Given the description of an element on the screen output the (x, y) to click on. 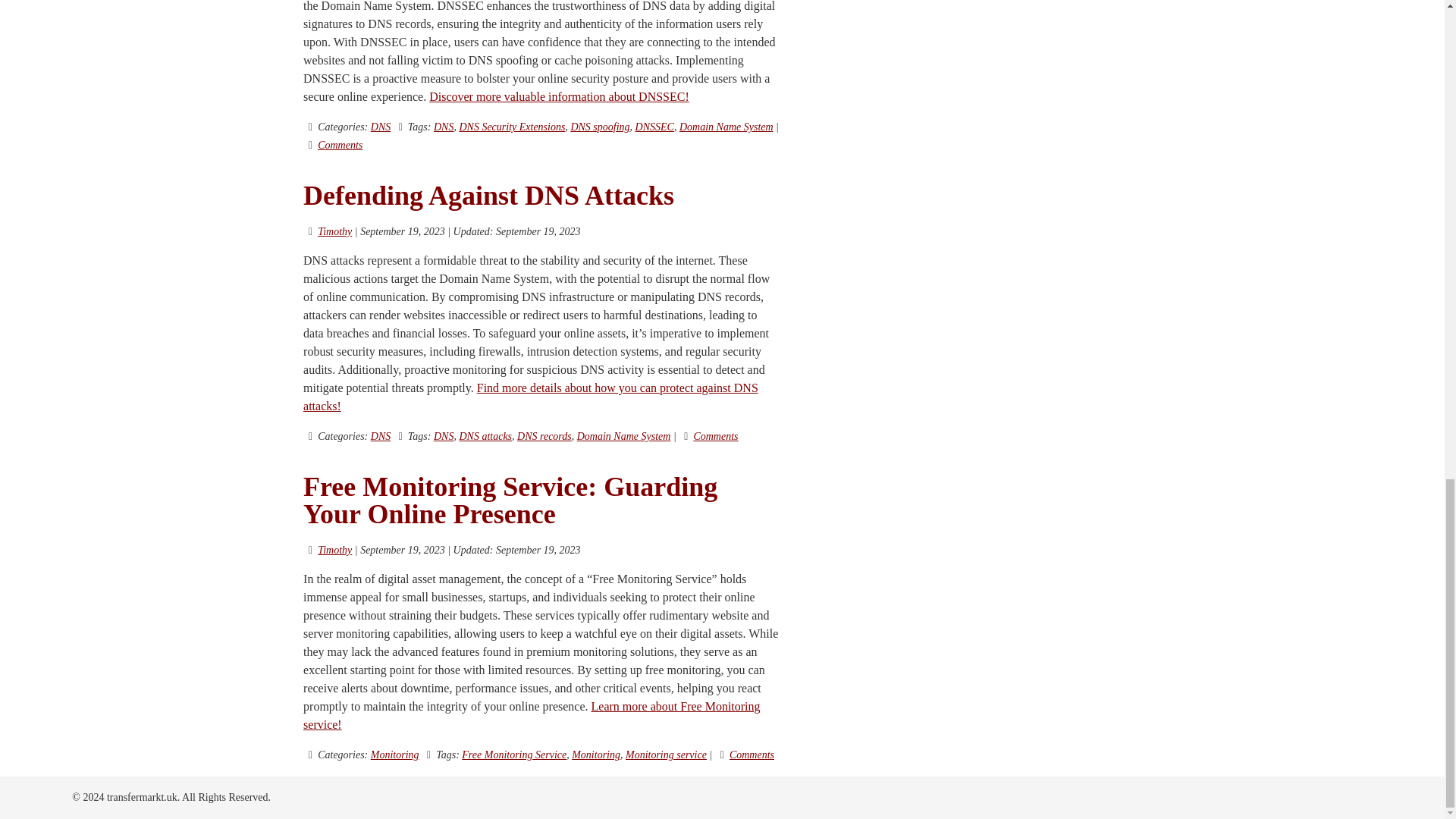
DNS spoofing (599, 126)
DNS Security Extensions (511, 126)
Posts by Timothy (334, 550)
Posts by Timothy (334, 231)
Defending Against DNS Attacks (488, 195)
DNSSEC (654, 126)
Free Monitoring Service: Guarding Your Online Presence (509, 500)
DNS (380, 126)
Discover more valuable information about DNSSEC! (558, 96)
DNS (442, 126)
